Given the description of an element on the screen output the (x, y) to click on. 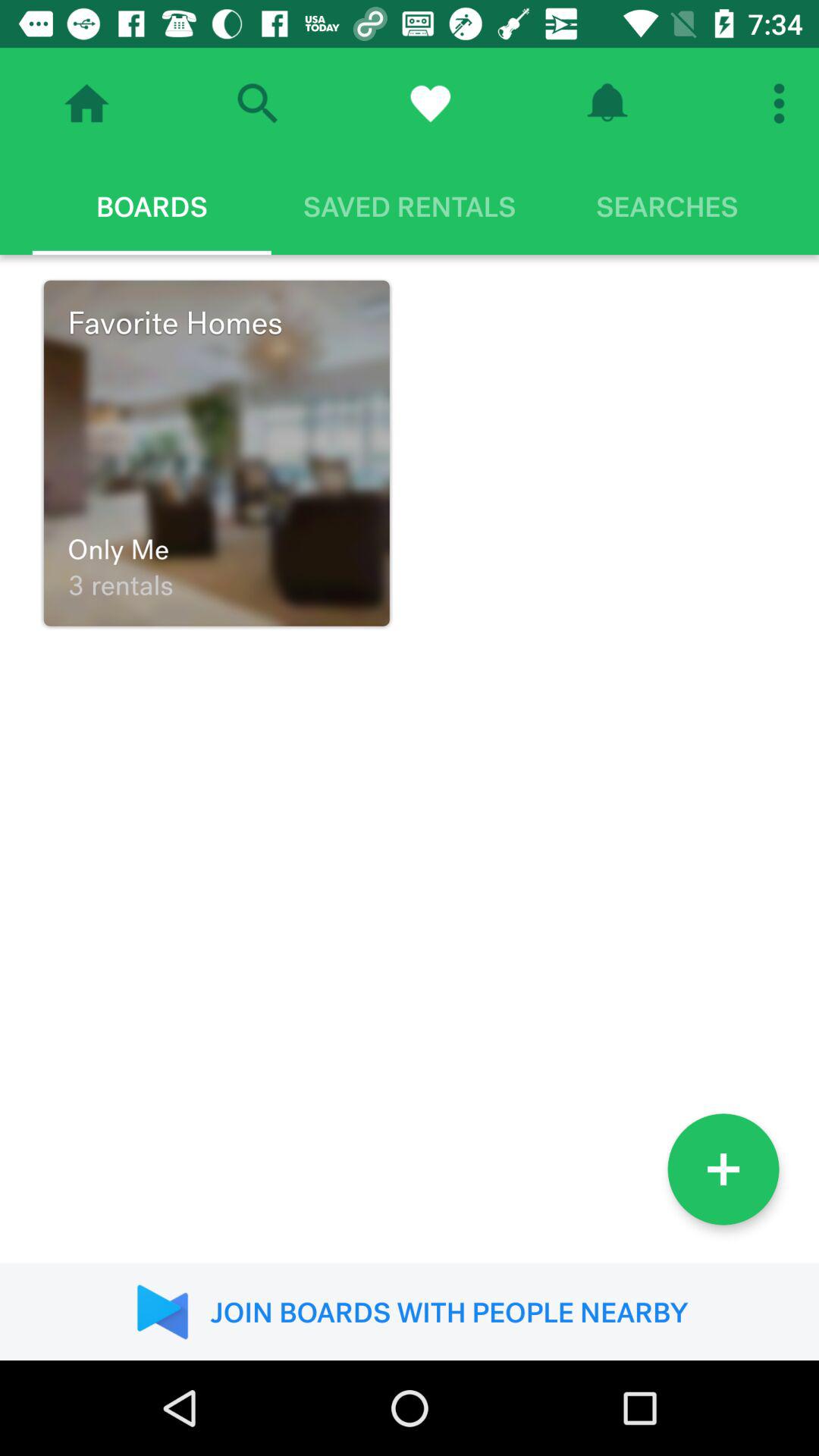
select the tab searches on the web page (666, 206)
select the search icon beside the home icon on the top (257, 103)
click the 3 dot  more option on the top right (783, 103)
select the join boards with people nearby text in the bottom (409, 1312)
select the boards (151, 206)
